Given the description of an element on the screen output the (x, y) to click on. 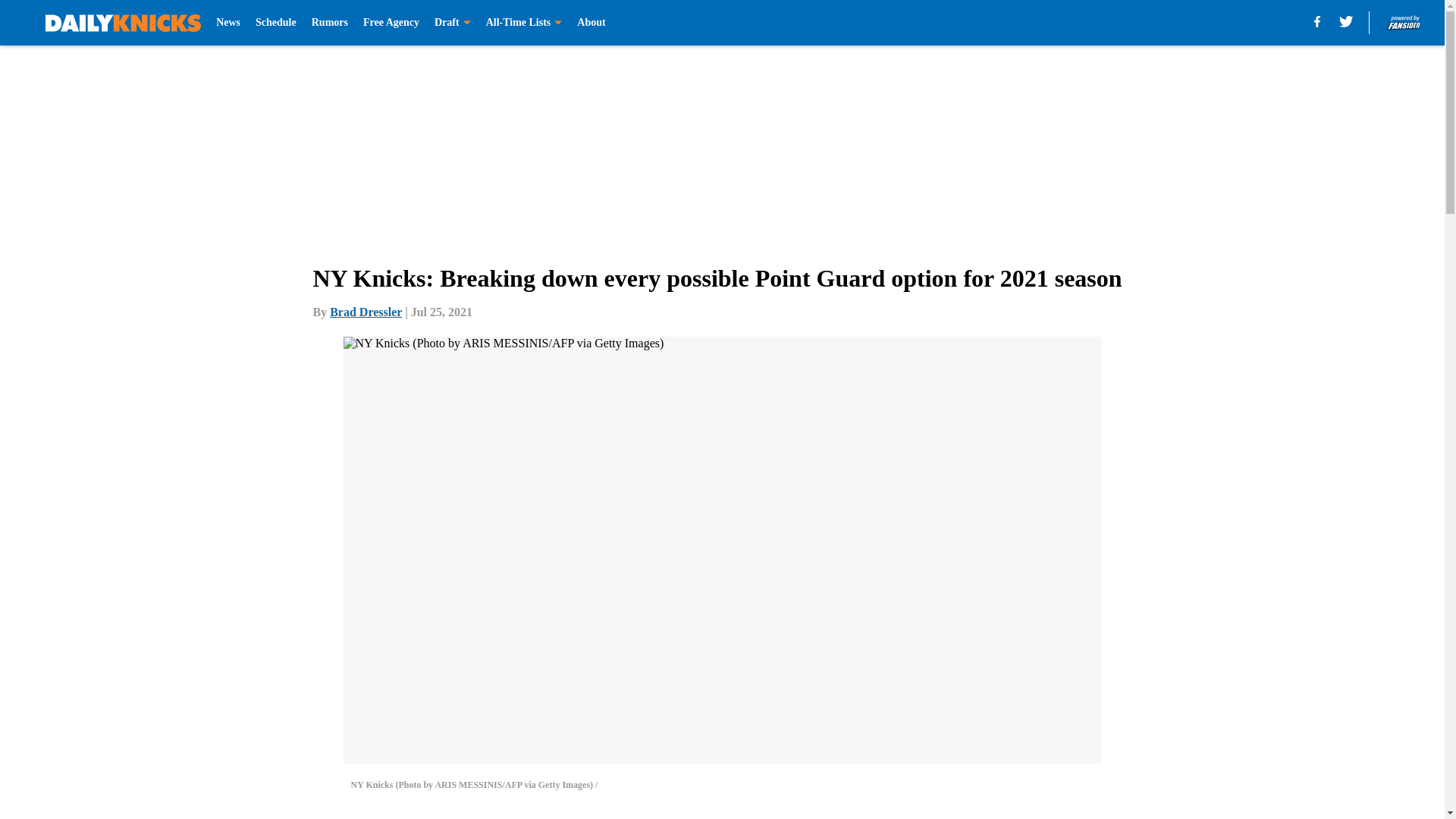
News (227, 22)
Schedule (276, 22)
Draft (451, 22)
Brad Dressler (365, 311)
All-Time Lists (524, 22)
About (590, 22)
Free Agency (390, 22)
Rumors (329, 22)
